Given the description of an element on the screen output the (x, y) to click on. 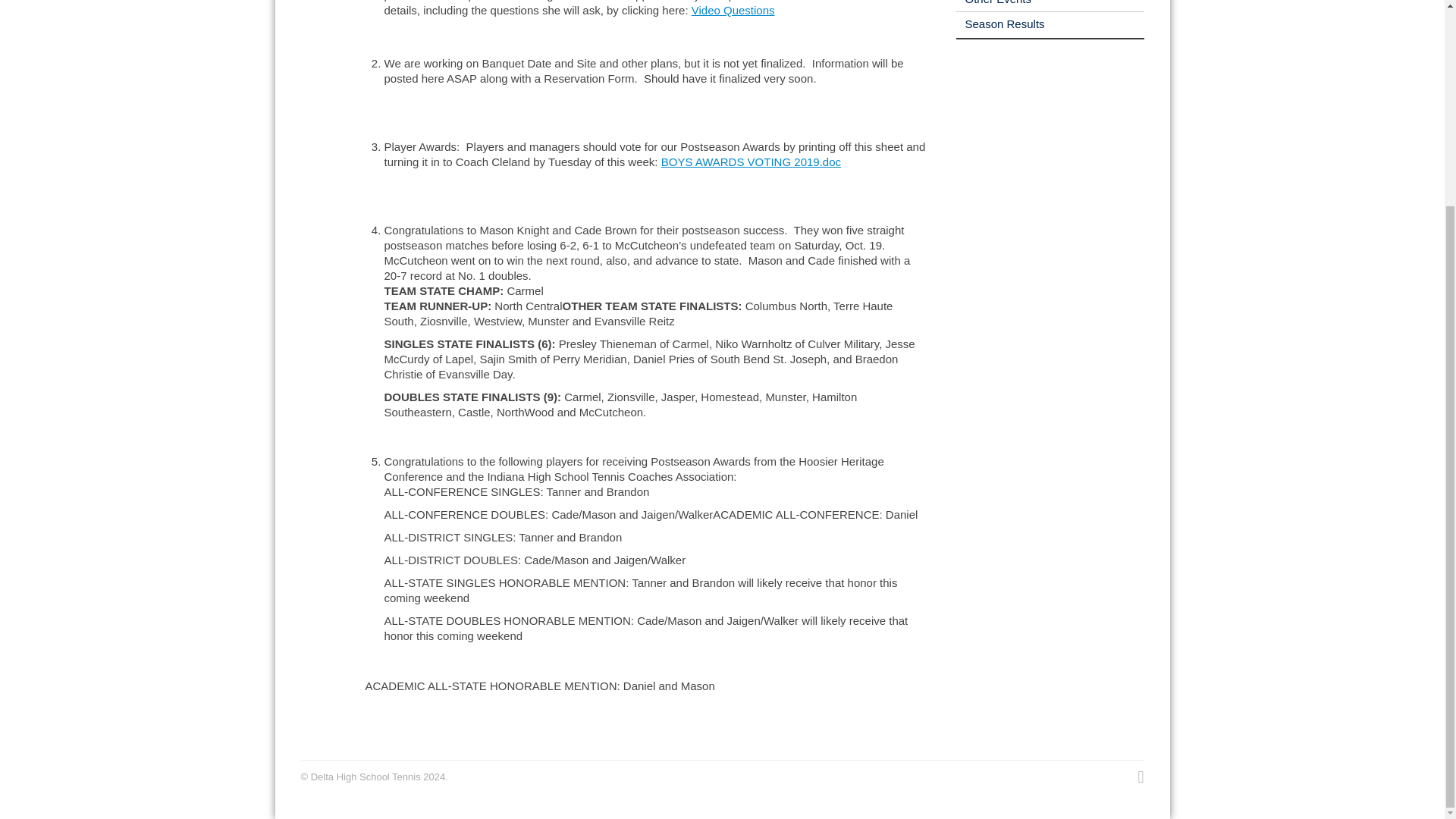
Other Events (992, 2)
Video Questions (732, 10)
Season Results (999, 23)
BOYS AWARDS VOTING 2019.doc (751, 161)
